Given the description of an element on the screen output the (x, y) to click on. 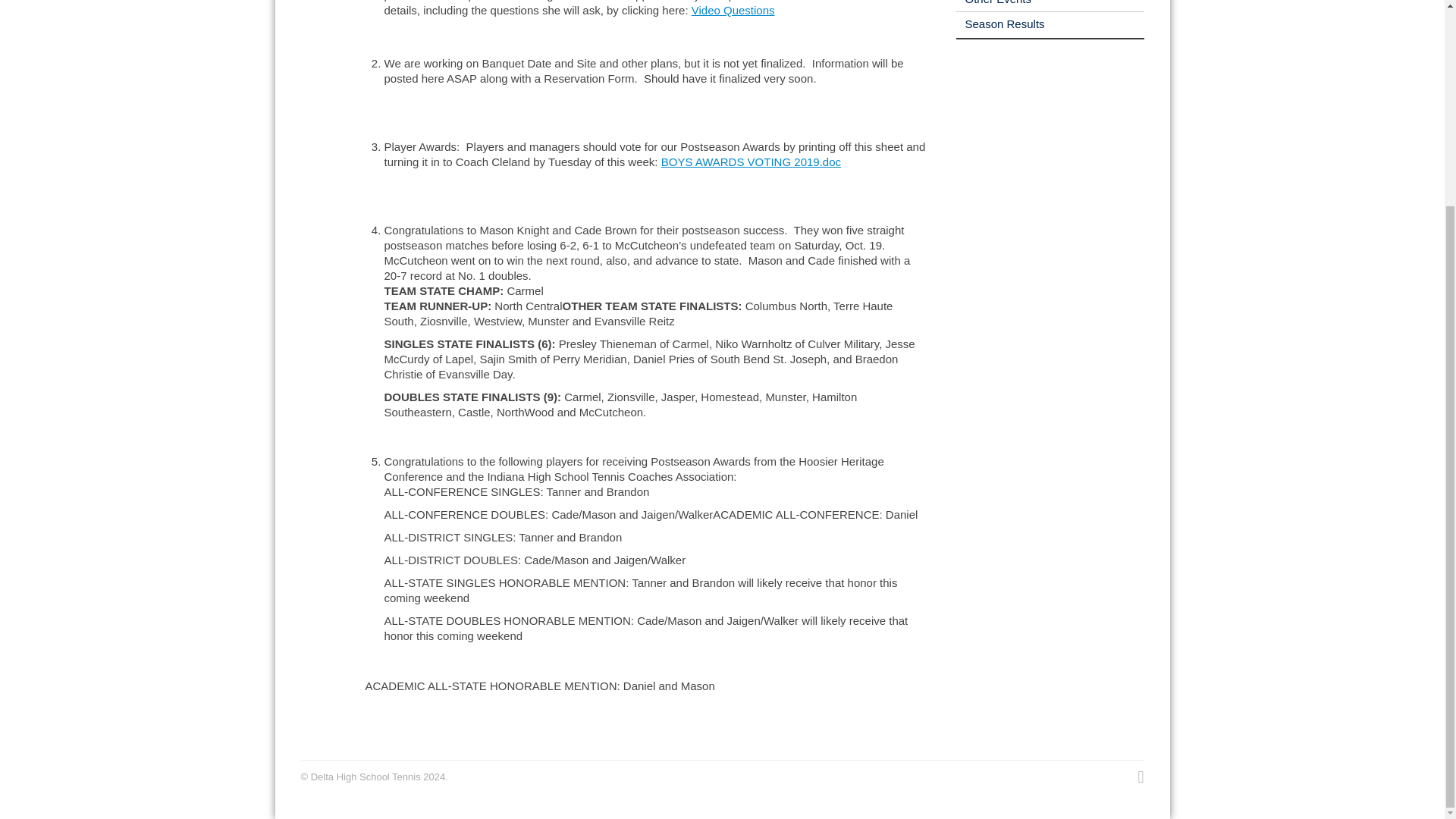
Other Events (992, 2)
Video Questions (732, 10)
Season Results (999, 23)
BOYS AWARDS VOTING 2019.doc (751, 161)
